Given the description of an element on the screen output the (x, y) to click on. 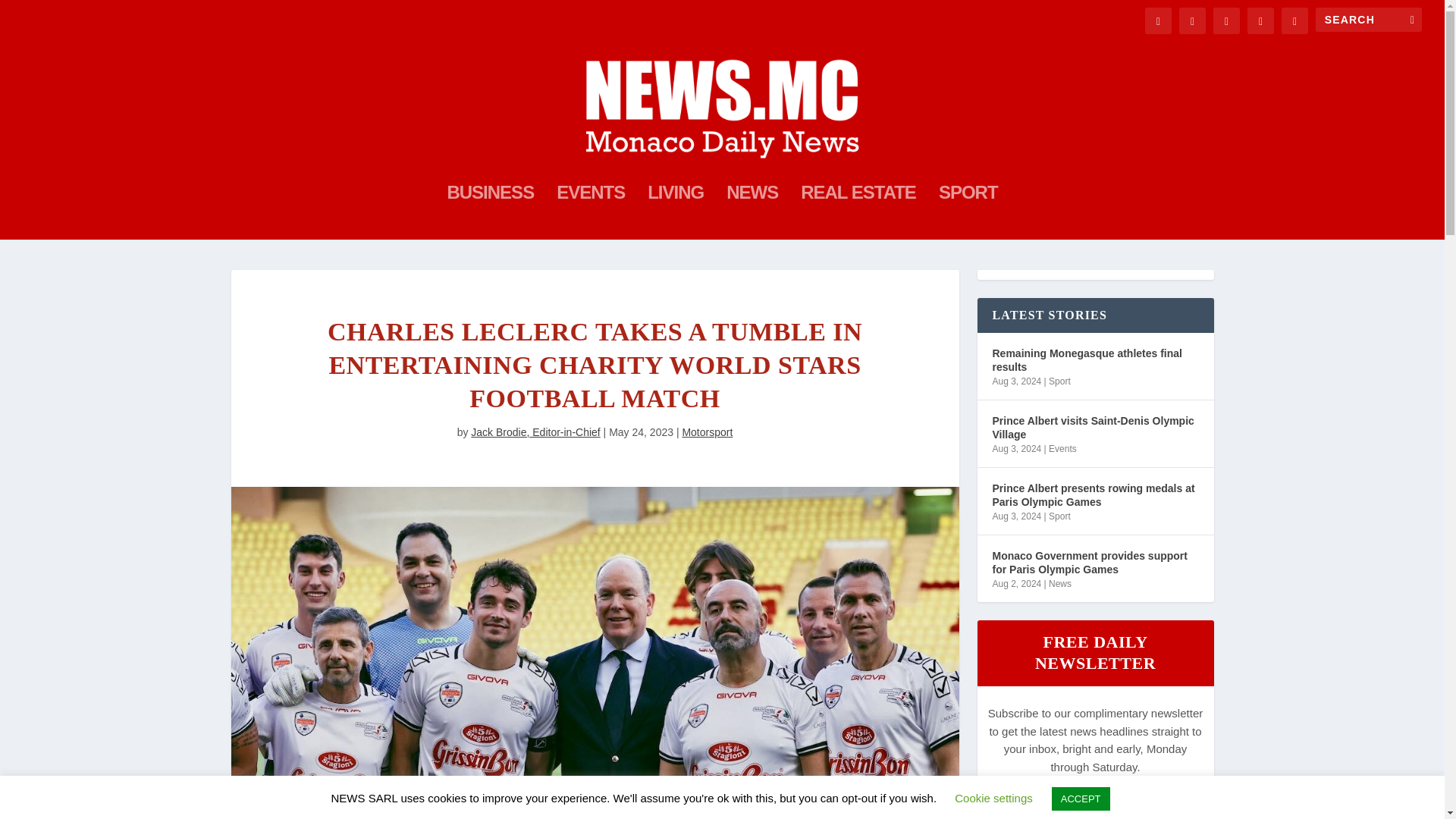
Search for: (1369, 19)
REAL ESTATE (857, 212)
Posts by Jack Brodie, Editor-in-Chief (534, 431)
BUSINESS (490, 212)
SPORT (968, 212)
EVENTS (590, 212)
LIVING (675, 212)
NEWS (751, 212)
